Given the description of an element on the screen output the (x, y) to click on. 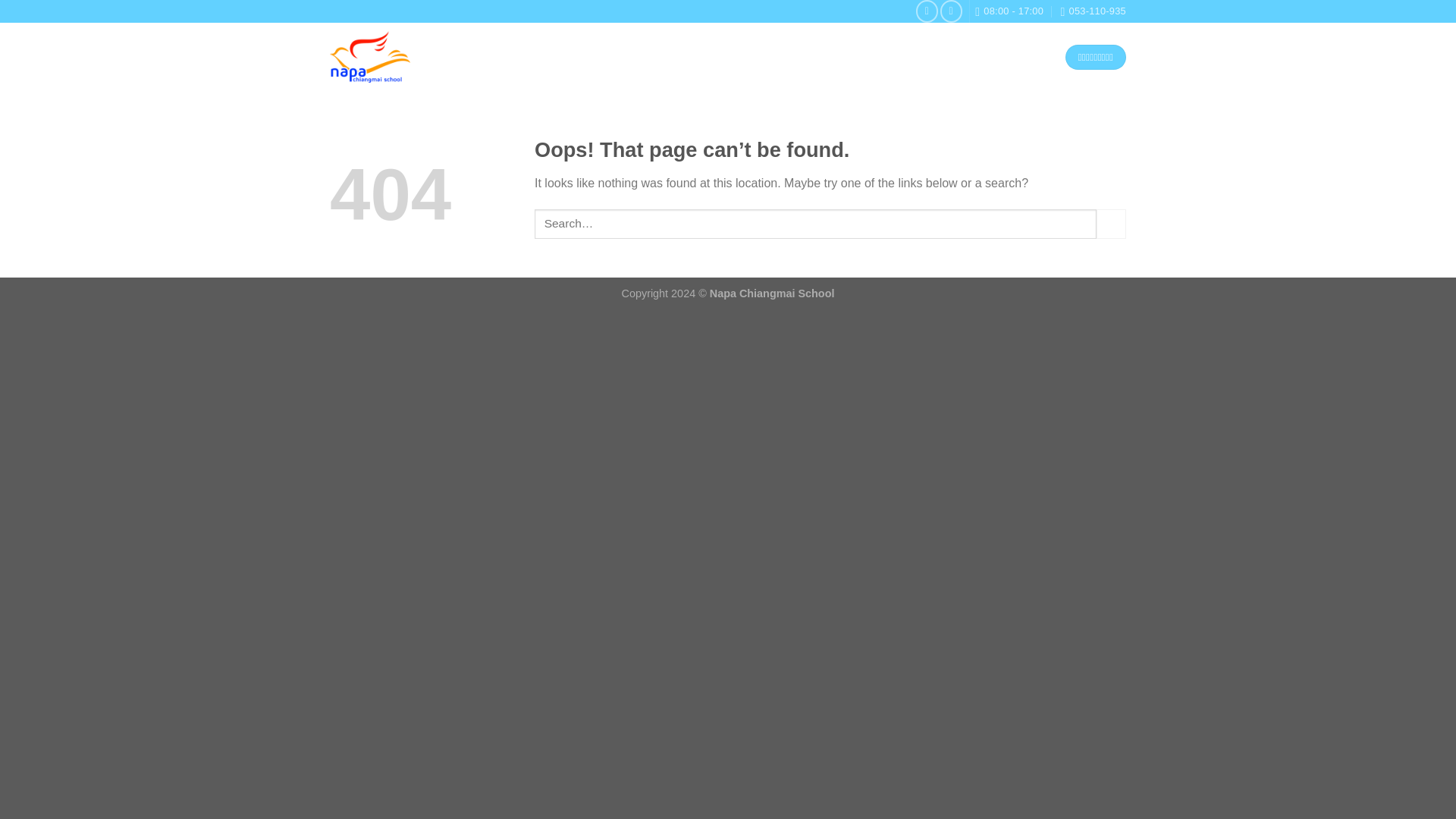
Send us an email (951, 11)
053-110-935 (1092, 11)
08:00 - 17:00  (1009, 11)
053-110-935 (1092, 11)
Follow on Facebook (926, 11)
08:00 - 17:00 (1009, 11)
